Given the description of an element on the screen output the (x, y) to click on. 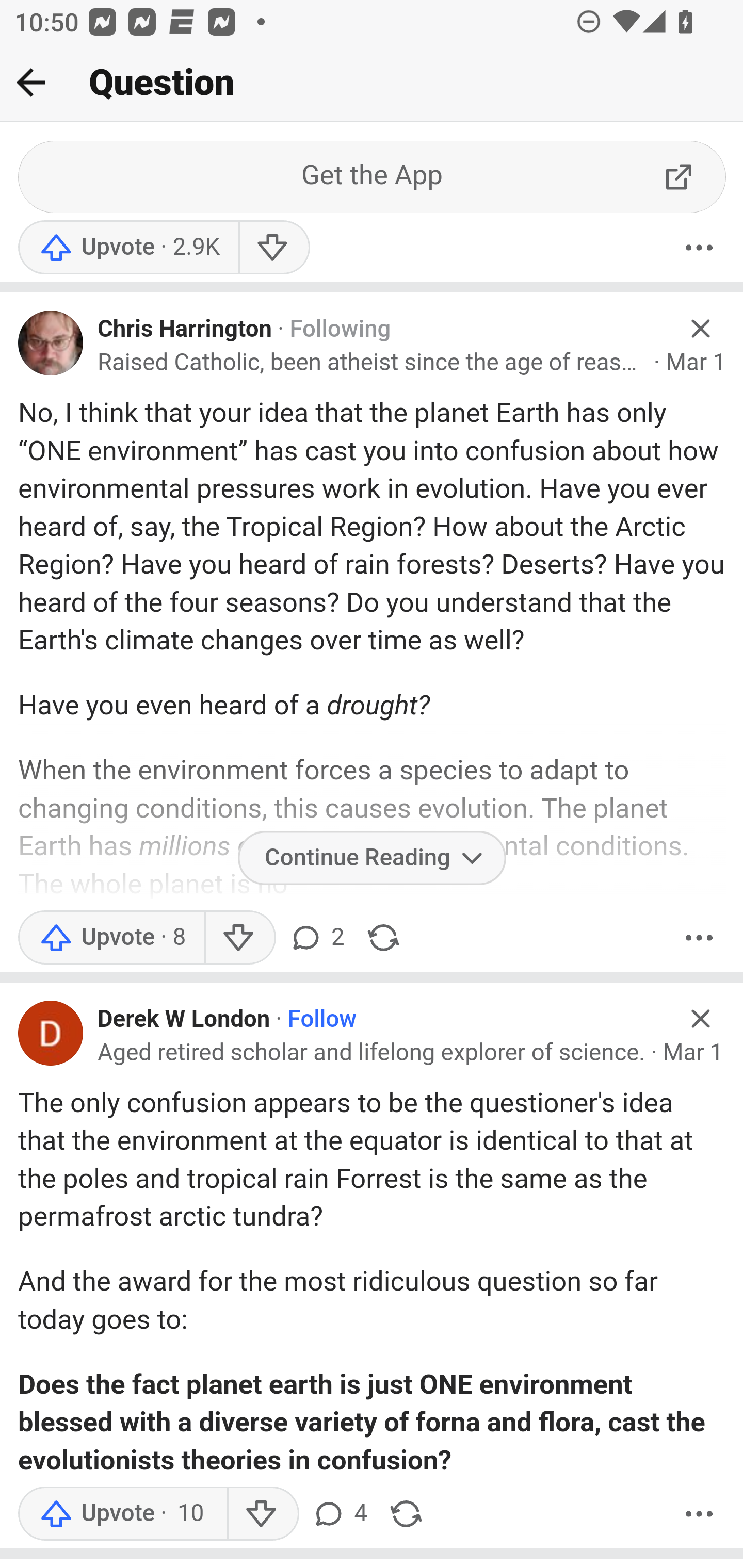
Back (30, 82)
Get the App ExternalLink (372, 178)
Upvote (127, 249)
Downvote (273, 249)
More (699, 249)
Hide (700, 329)
Profile photo for Chris Harrington (50, 343)
Chris Harrington (184, 329)
Continue Reading (371, 859)
Hide (700, 1019)
Profile photo for Derek W London (50, 1033)
Derek W London (184, 1019)
Follow (321, 1019)
